Given the description of an element on the screen output the (x, y) to click on. 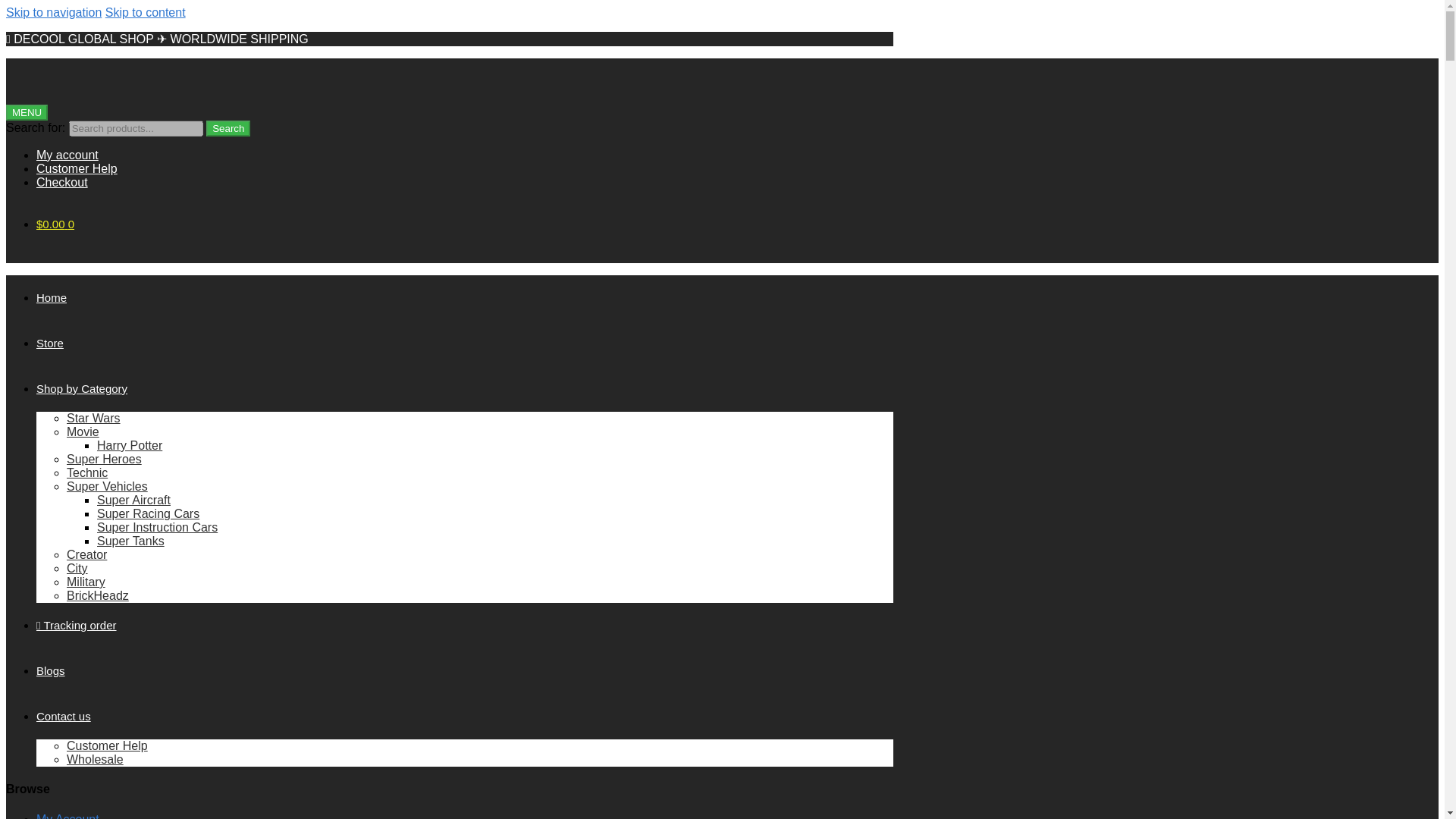
Star Wars (93, 418)
MENU (26, 112)
Creator (86, 554)
Super Racing Cars (148, 513)
View your shopping cart (55, 223)
Customer Help (107, 745)
Search (228, 128)
Super Heroes (103, 459)
Military (85, 581)
My Account (67, 816)
Harry Potter (129, 445)
Super Tanks (130, 540)
Customer Help (464, 169)
Wholesale (94, 758)
Shop by Category (82, 388)
